Given the description of an element on the screen output the (x, y) to click on. 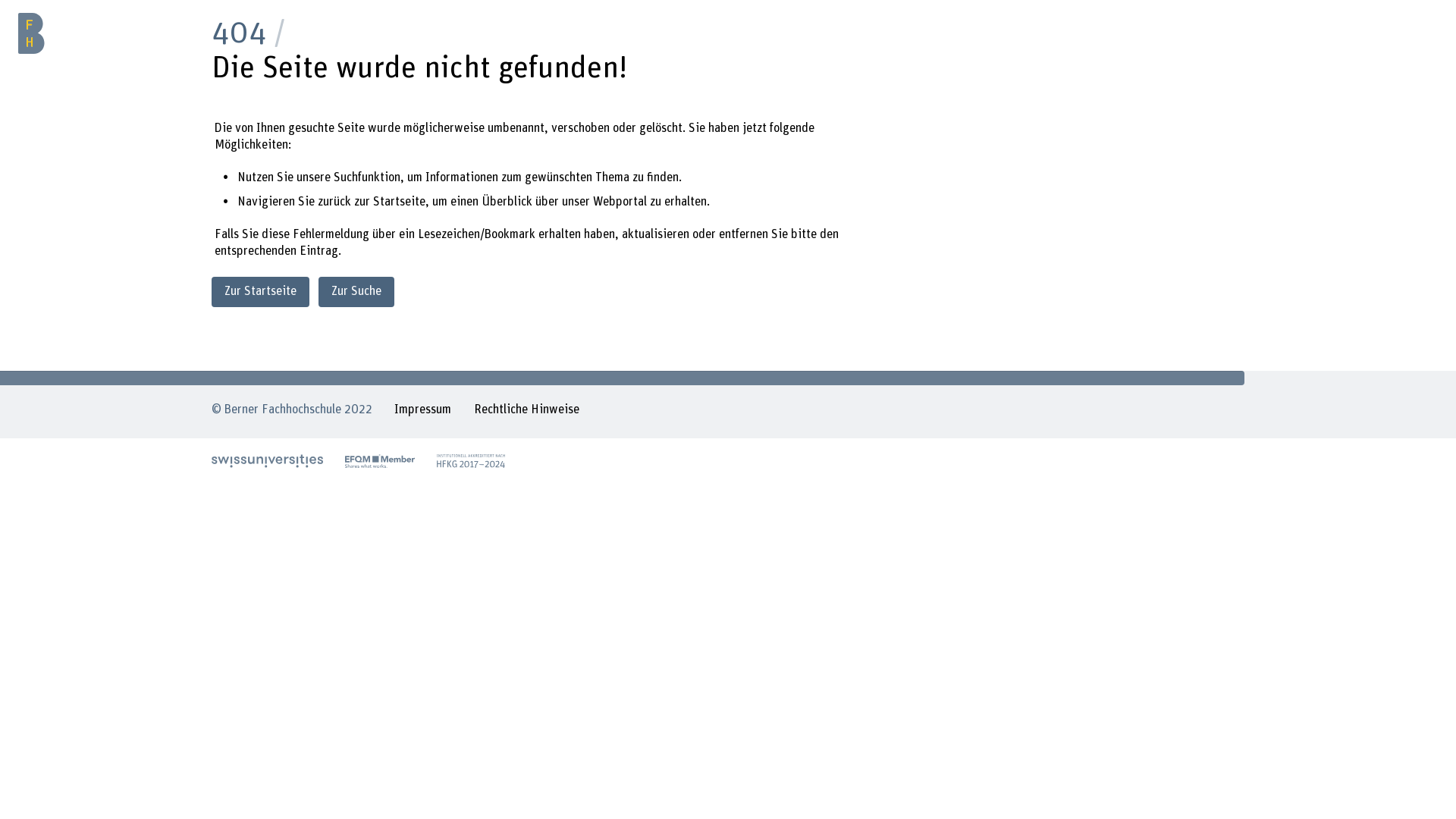
Suchfunktion Element type: text (366, 177)
Zur Startseite Element type: text (260, 291)
Akkreditierung Element type: hover (470, 460)
EFQM Member Element type: hover (379, 460)
Startseite Element type: text (399, 201)
Zur Suche Element type: text (356, 291)
Rechtliche Hinweise Element type: text (525, 411)
Impressum Element type: text (422, 411)
swissuniversities Element type: hover (267, 460)
